Given the description of an element on the screen output the (x, y) to click on. 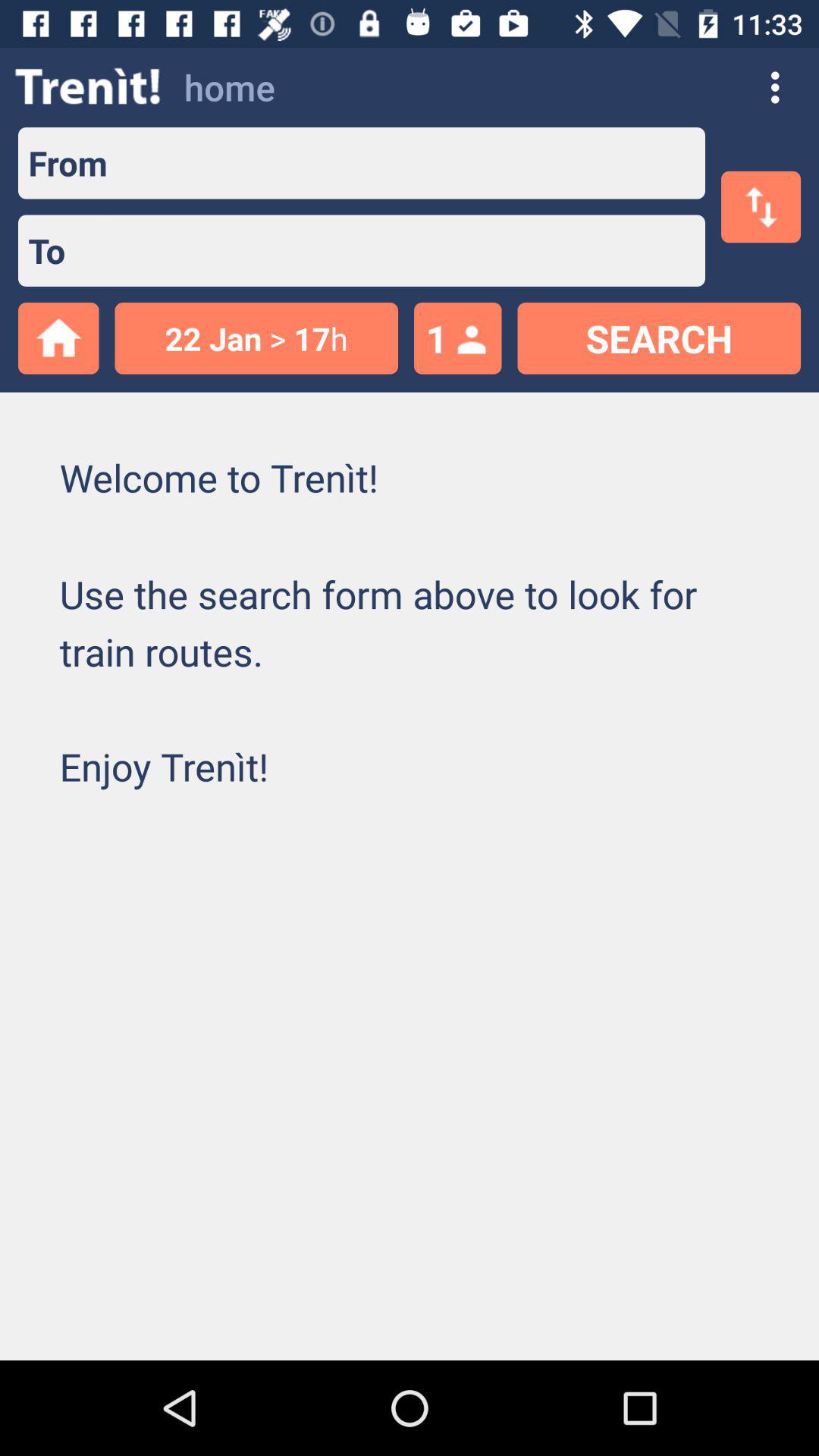
type the receiver contact (406, 250)
